Given the description of an element on the screen output the (x, y) to click on. 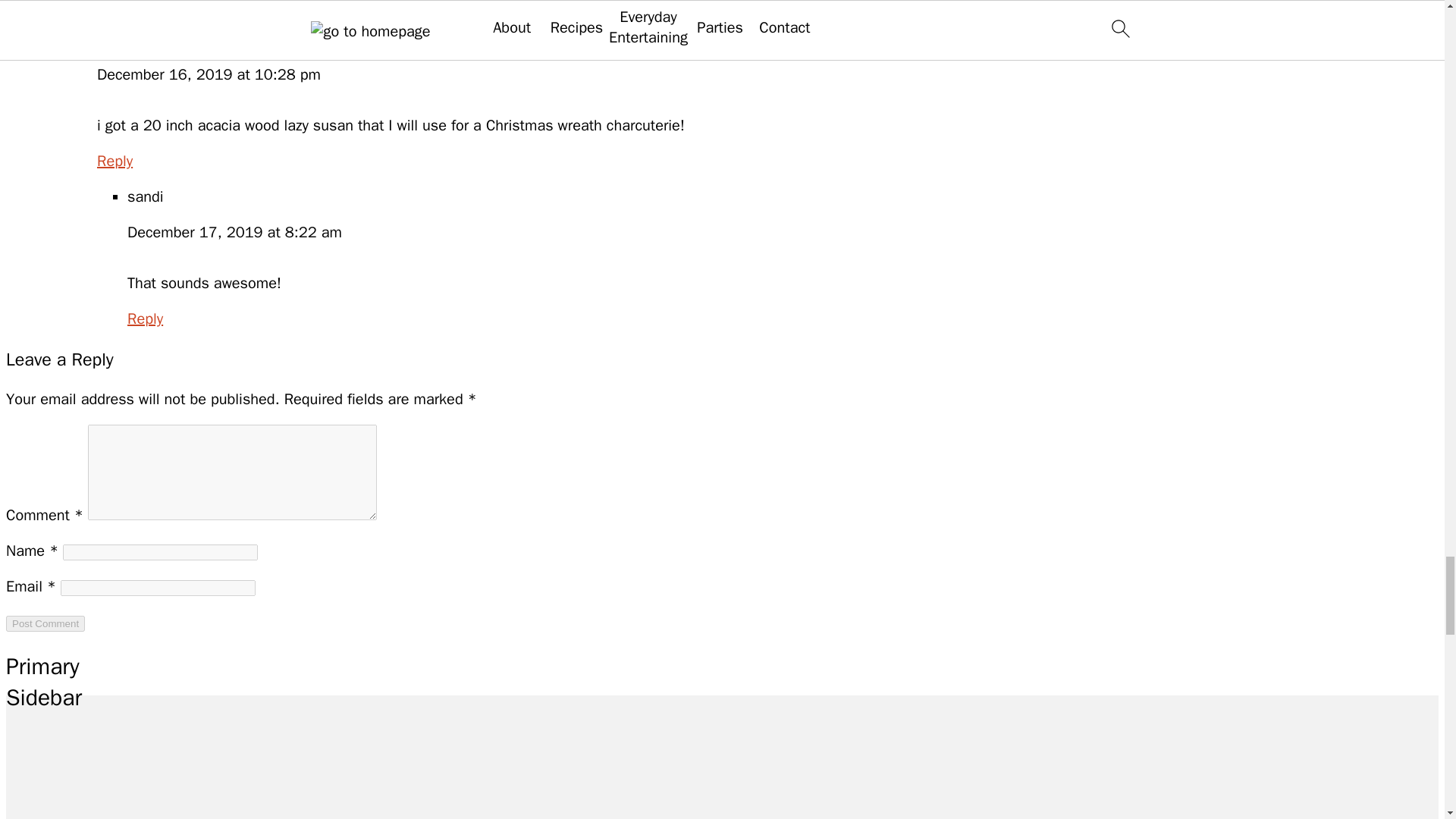
Post Comment (44, 623)
